Given the description of an element on the screen output the (x, y) to click on. 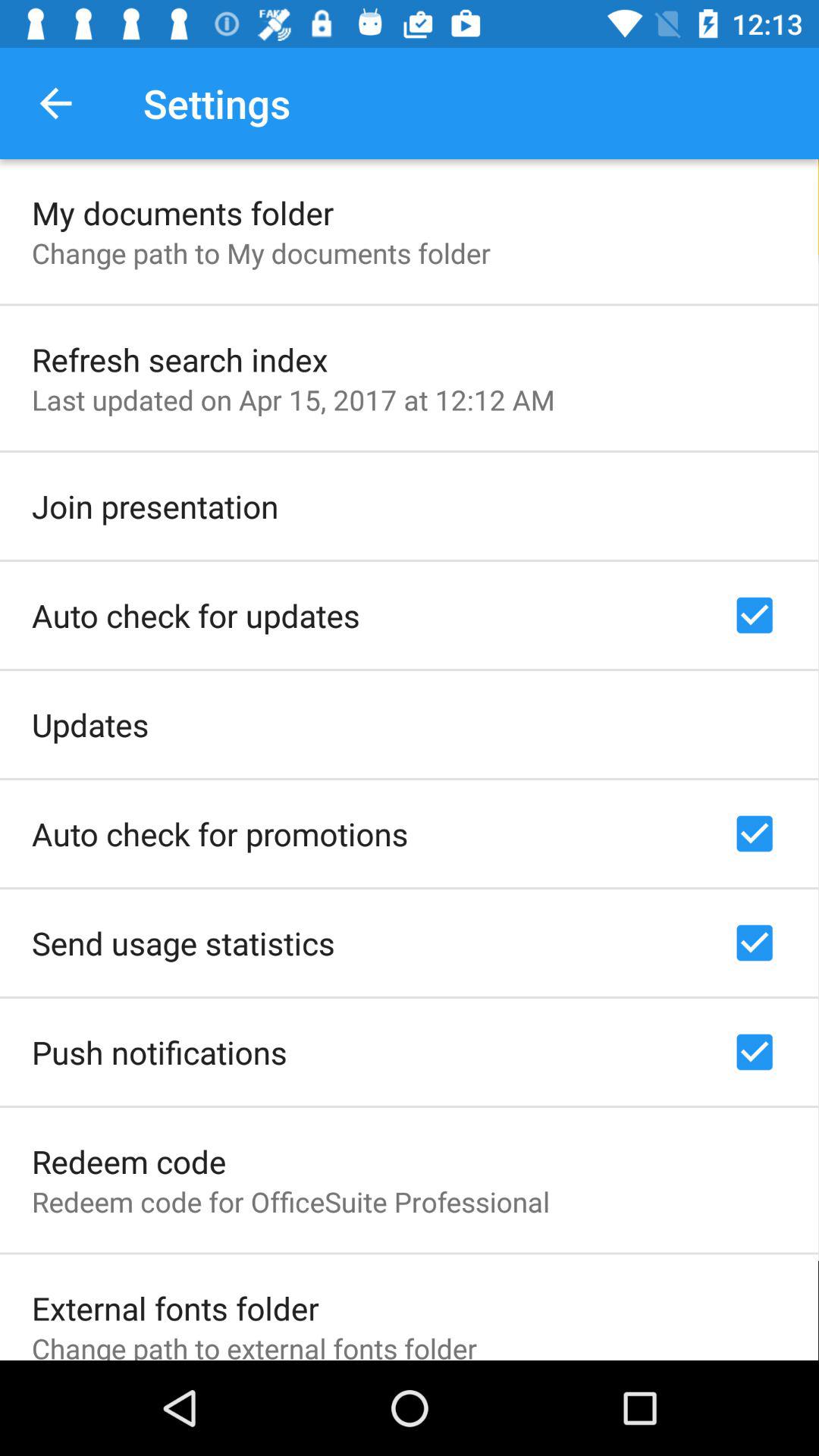
go back (55, 103)
